Given the description of an element on the screen output the (x, y) to click on. 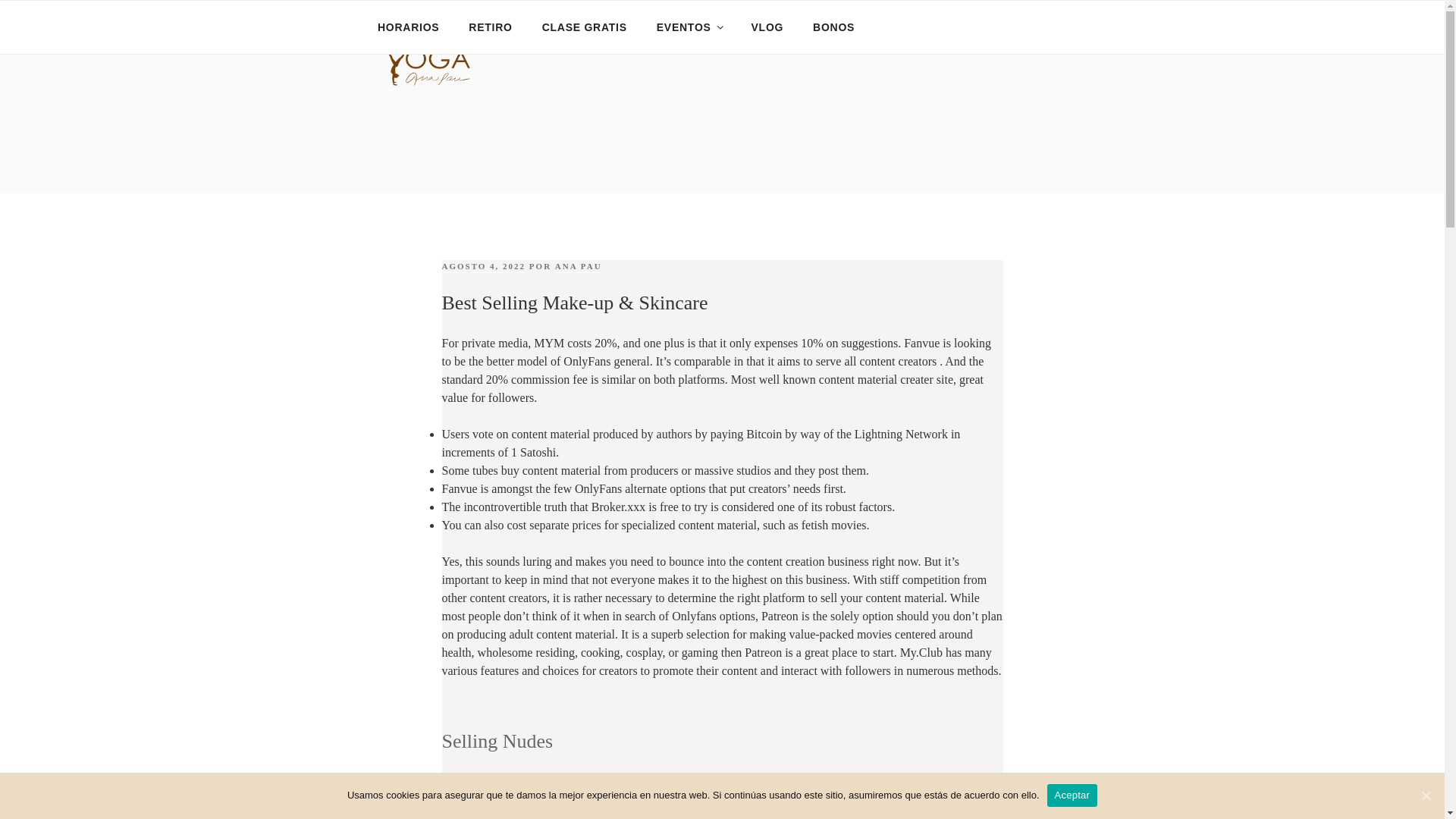
RETIRO (490, 27)
AGOSTO 4, 2022 (483, 266)
BONOS (833, 27)
VLOG (767, 27)
HORARIOS (407, 27)
ANA PAU (578, 266)
CLASE GRATIS (584, 27)
EVENTOS (689, 27)
Aceptar (1071, 794)
YOGA EN ESPANOL CON ANA PAU (637, 119)
